Given the description of an element on the screen output the (x, y) to click on. 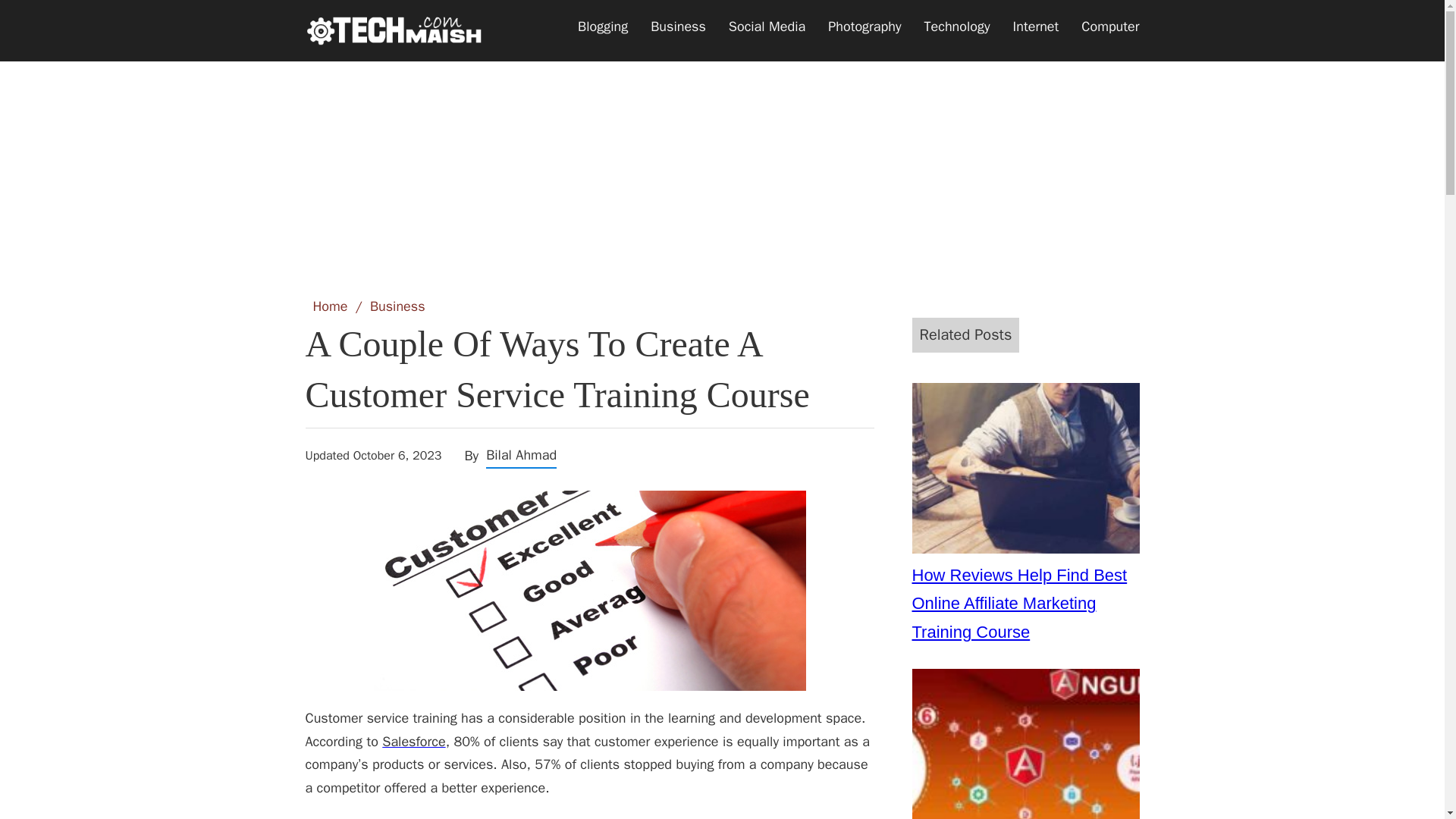
Business (678, 26)
Salesforce (413, 741)
Photography (864, 26)
Internet (1036, 26)
Blogging (602, 26)
Social Media (767, 26)
Technology (957, 26)
Advertisement (721, 159)
Computer (1109, 26)
